Given the description of an element on the screen output the (x, y) to click on. 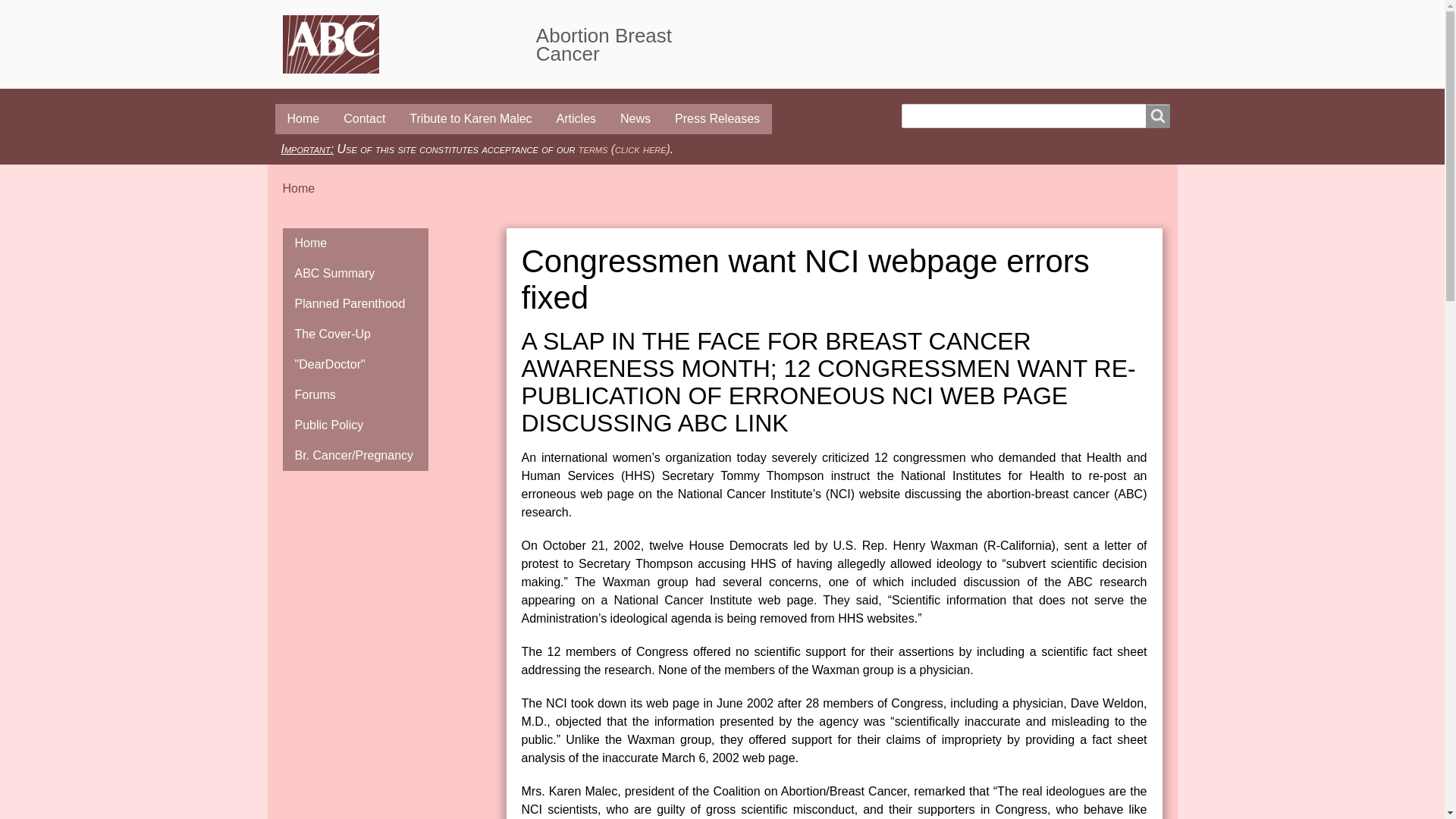
Home (603, 44)
Press Releases (716, 119)
Search (1156, 115)
Have a Question? Contact us! (364, 119)
Search (1156, 115)
Articles (576, 119)
The Cover-Up (355, 334)
Enter the terms you wish to search for. (1035, 115)
Public Policy (355, 425)
ABC Summary (355, 273)
News (635, 119)
Planned Parenthood (355, 304)
Abortion Breast Cancer (603, 44)
Home (408, 44)
Forums (355, 395)
